Given the description of an element on the screen output the (x, y) to click on. 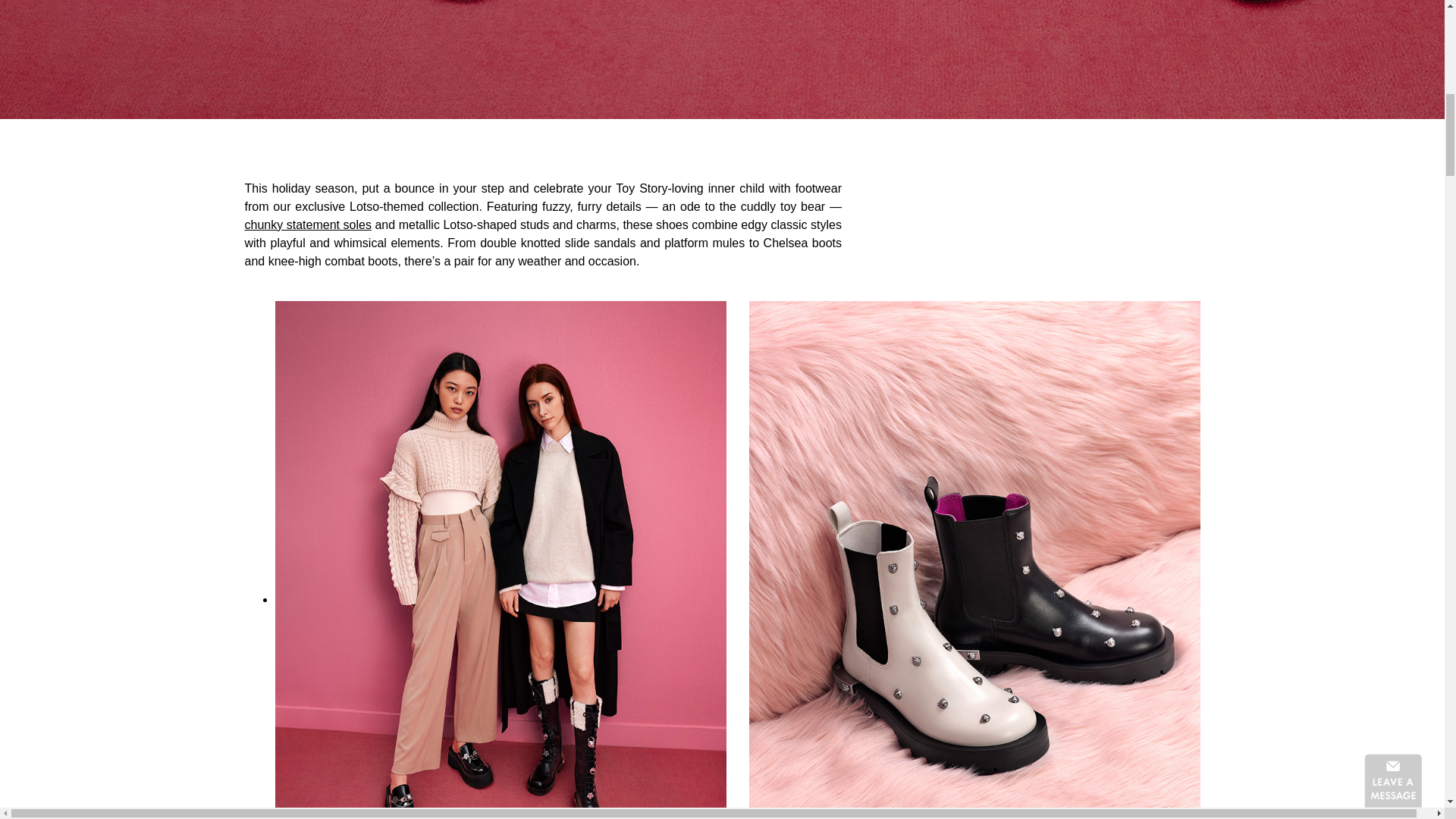
Lotso Furry Knee-High Combat Boots (500, 599)
Lotso Studded Chelsea Boots (974, 599)
